Given the description of an element on the screen output the (x, y) to click on. 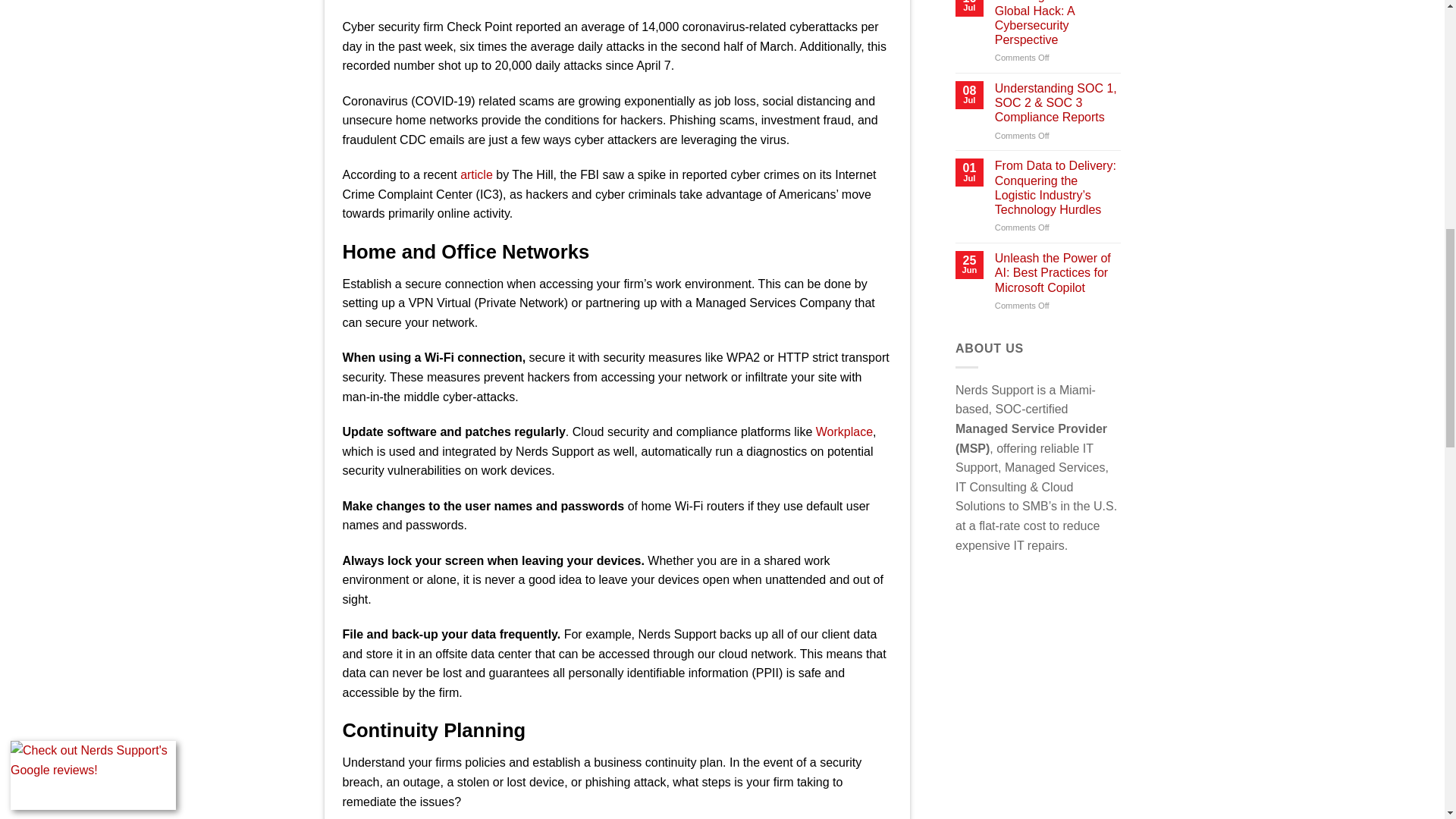
Unveiling the CDK Global Hack: A Cybersecurity Perspective (1057, 23)
